Given the description of an element on the screen output the (x, y) to click on. 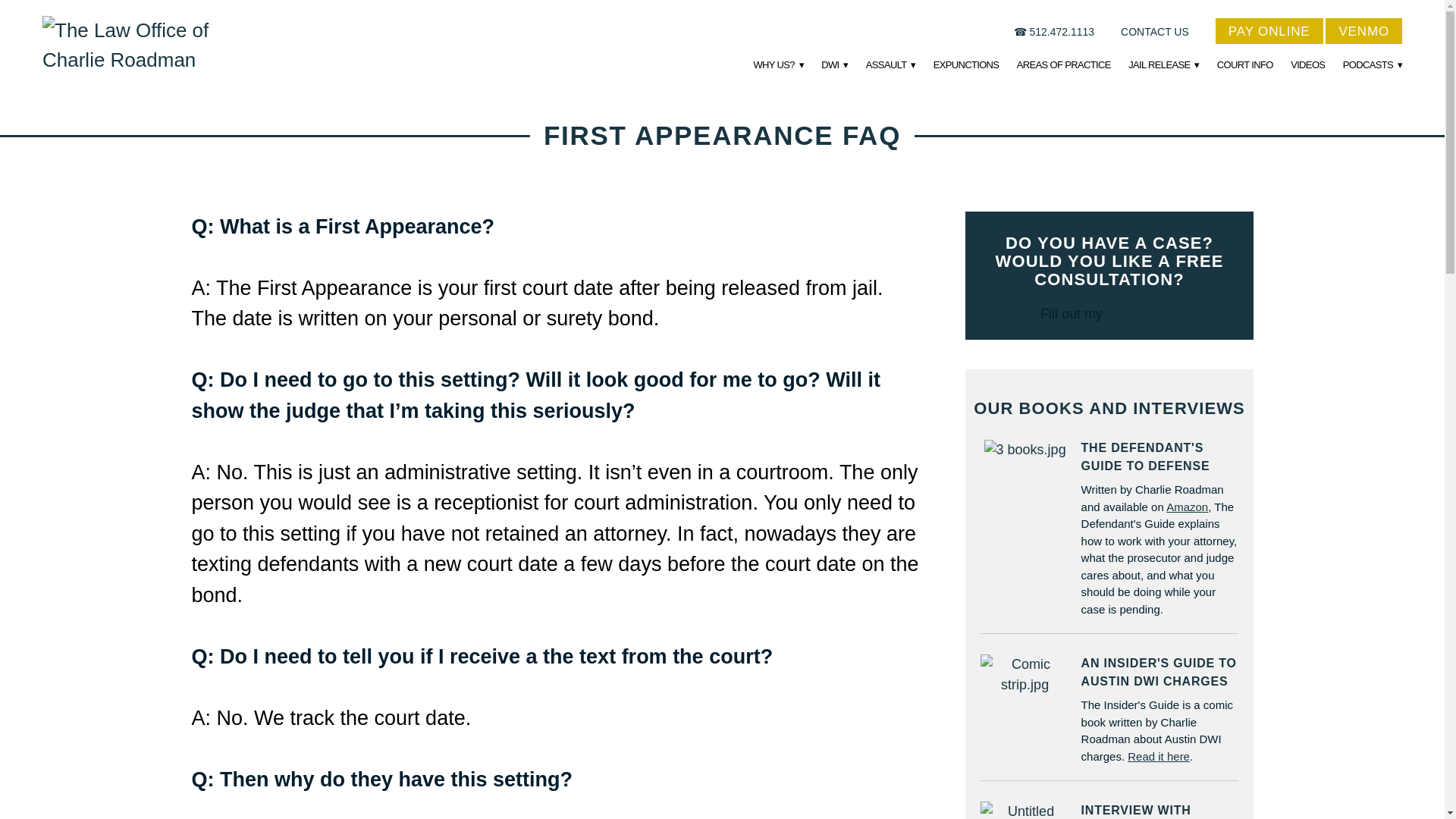
VIDEOS (1307, 64)
online form (1139, 313)
EXPUNCTIONS (965, 64)
PAY ONLINE (1269, 31)
The Law Office of Charlie Roadman (152, 45)
512.472.1113 (1061, 31)
COURT INFO (1244, 64)
VENMO (1363, 31)
CONTACT US (1155, 31)
AREAS OF PRACTICE (1063, 64)
